Given the description of an element on the screen output the (x, y) to click on. 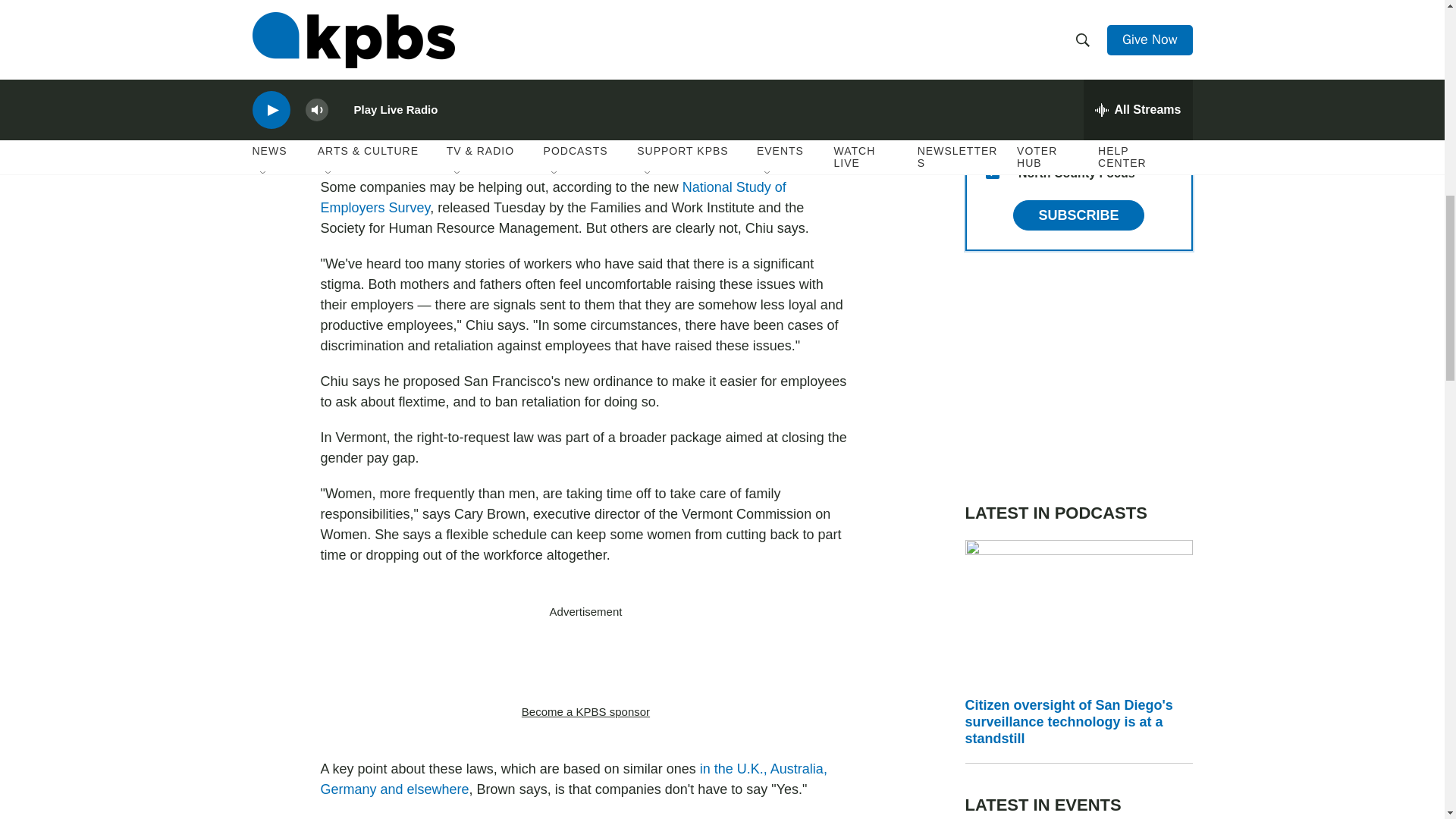
15 (991, 172)
3rd party ad content (1077, 376)
3rd party ad content (584, 662)
2 (991, 62)
3rd party ad content (584, 79)
1 (991, 99)
8 (991, 135)
6 (991, 26)
